Given the description of an element on the screen output the (x, y) to click on. 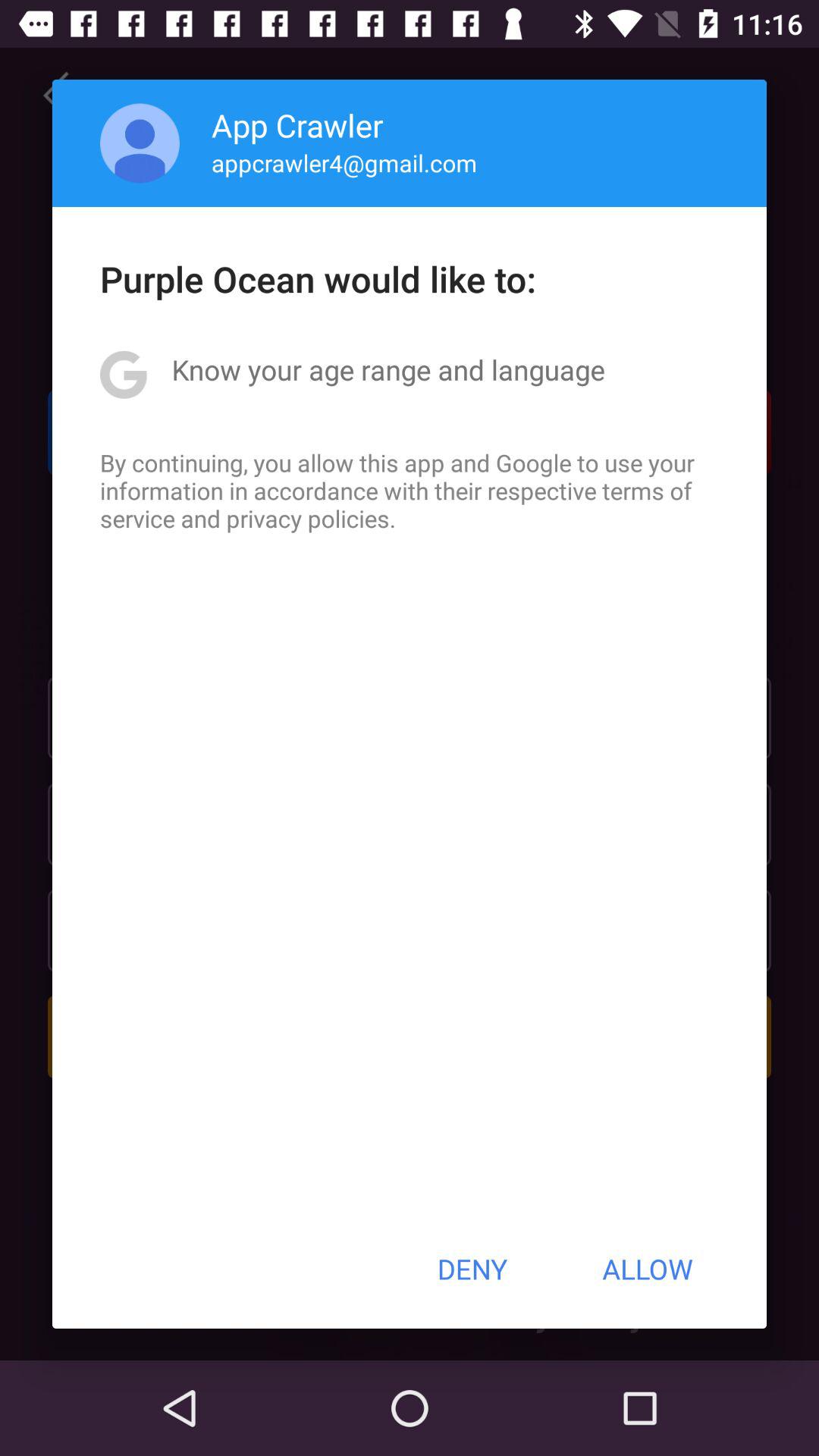
press deny item (471, 1268)
